Given the description of an element on the screen output the (x, y) to click on. 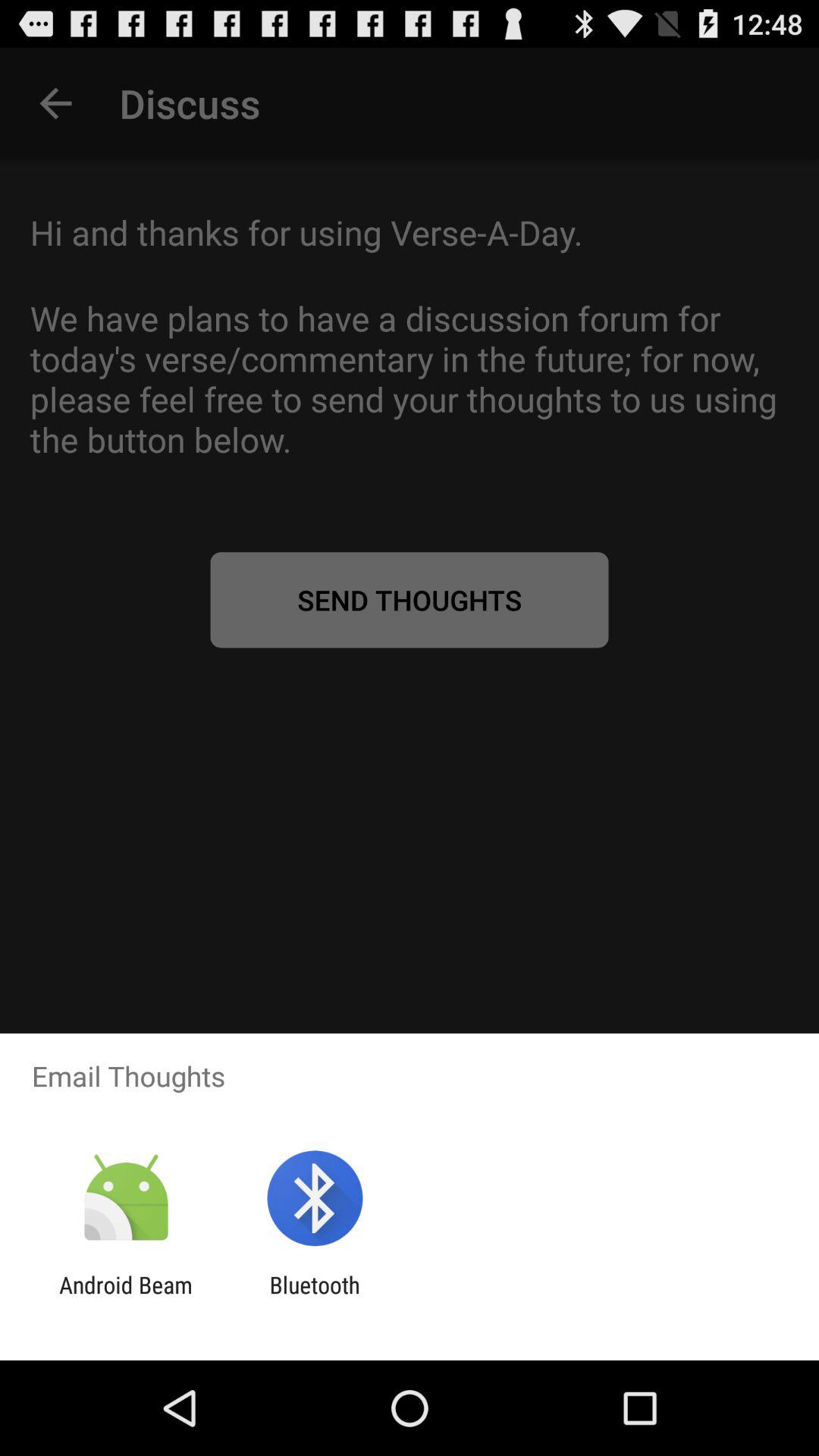
turn on the app to the right of android beam item (314, 1298)
